Given the description of an element on the screen output the (x, y) to click on. 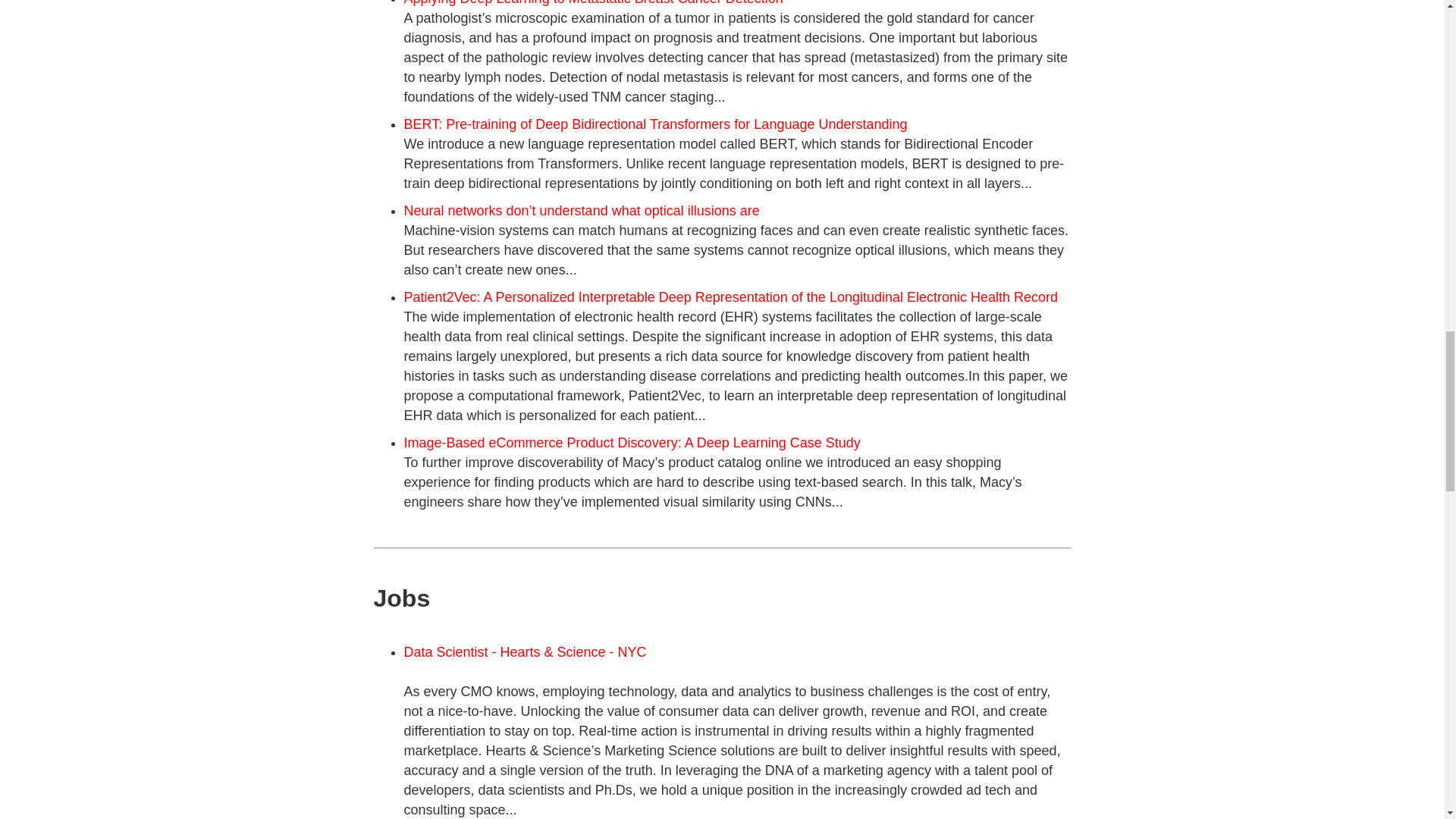
Applying Deep Learning to Metastatic Breast Cancer Detection (593, 2)
